Given the description of an element on the screen output the (x, y) to click on. 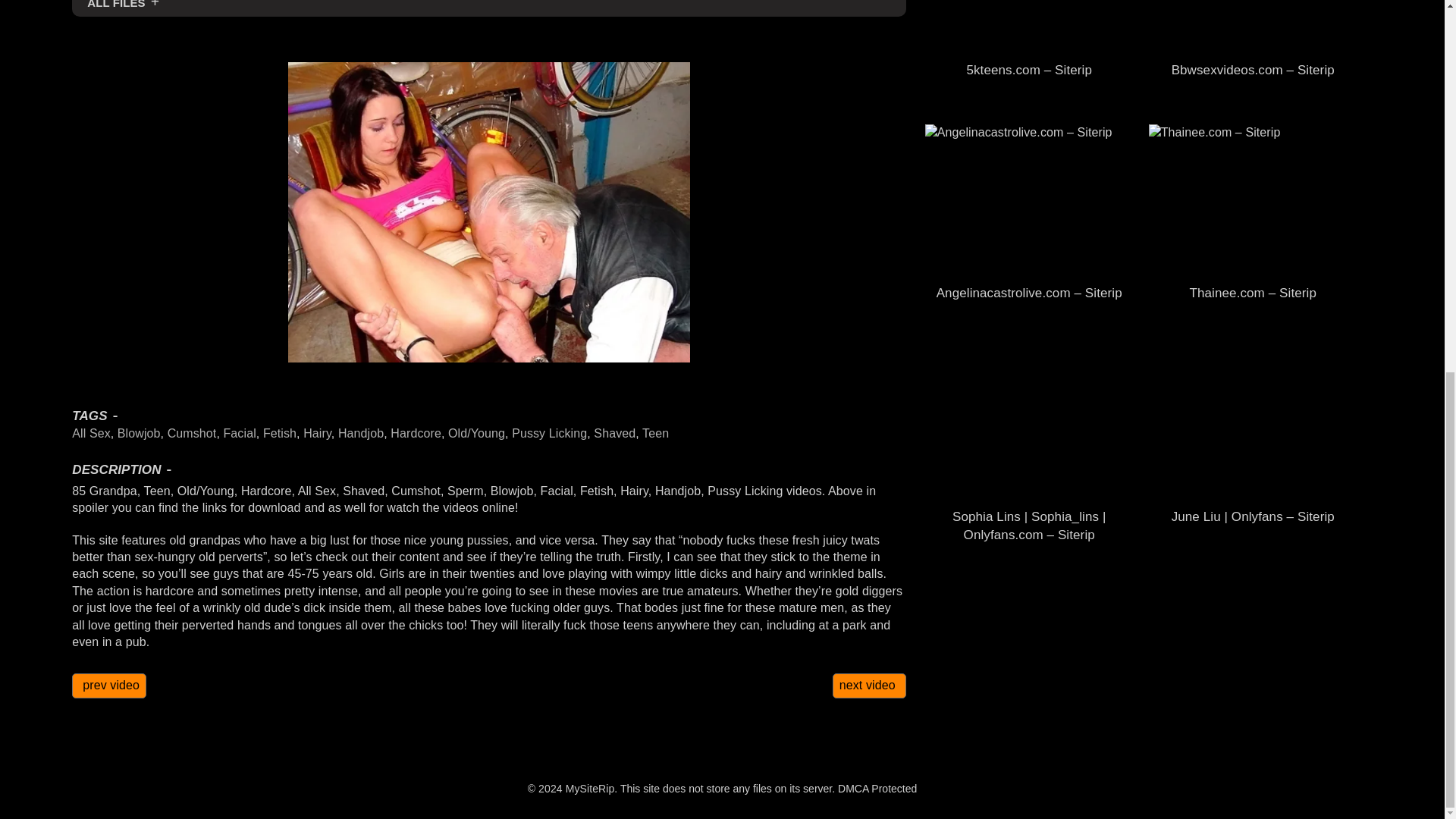
Blowjob (138, 432)
Facial (239, 432)
next video (868, 685)
Pussy Licking (549, 432)
Hairy (316, 432)
Cumshot (191, 432)
Fetish (280, 432)
prev video (109, 685)
Hardcore (415, 432)
Handjob (360, 432)
